Given the description of an element on the screen output the (x, y) to click on. 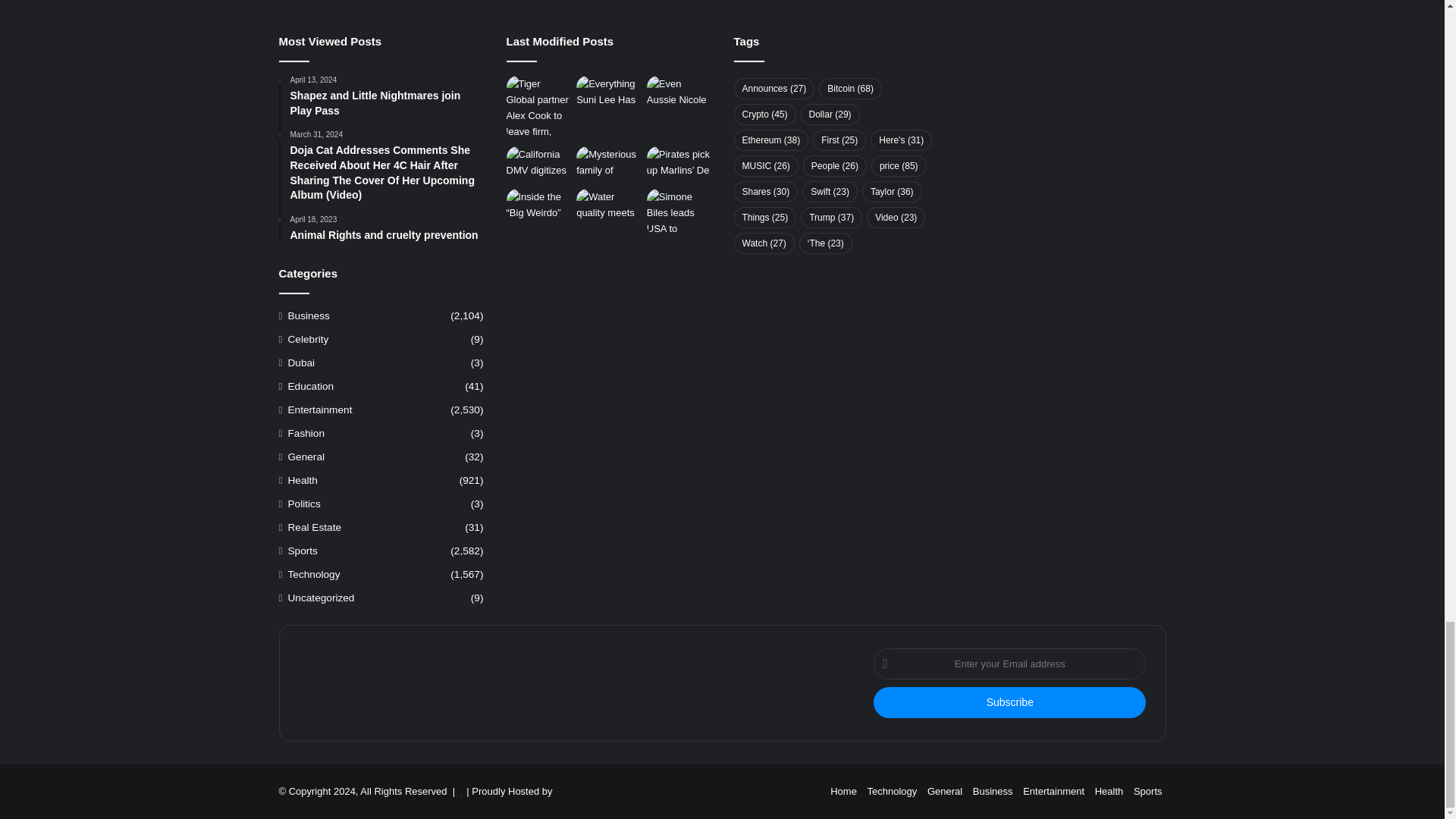
Subscribe (1009, 702)
